Given the description of an element on the screen output the (x, y) to click on. 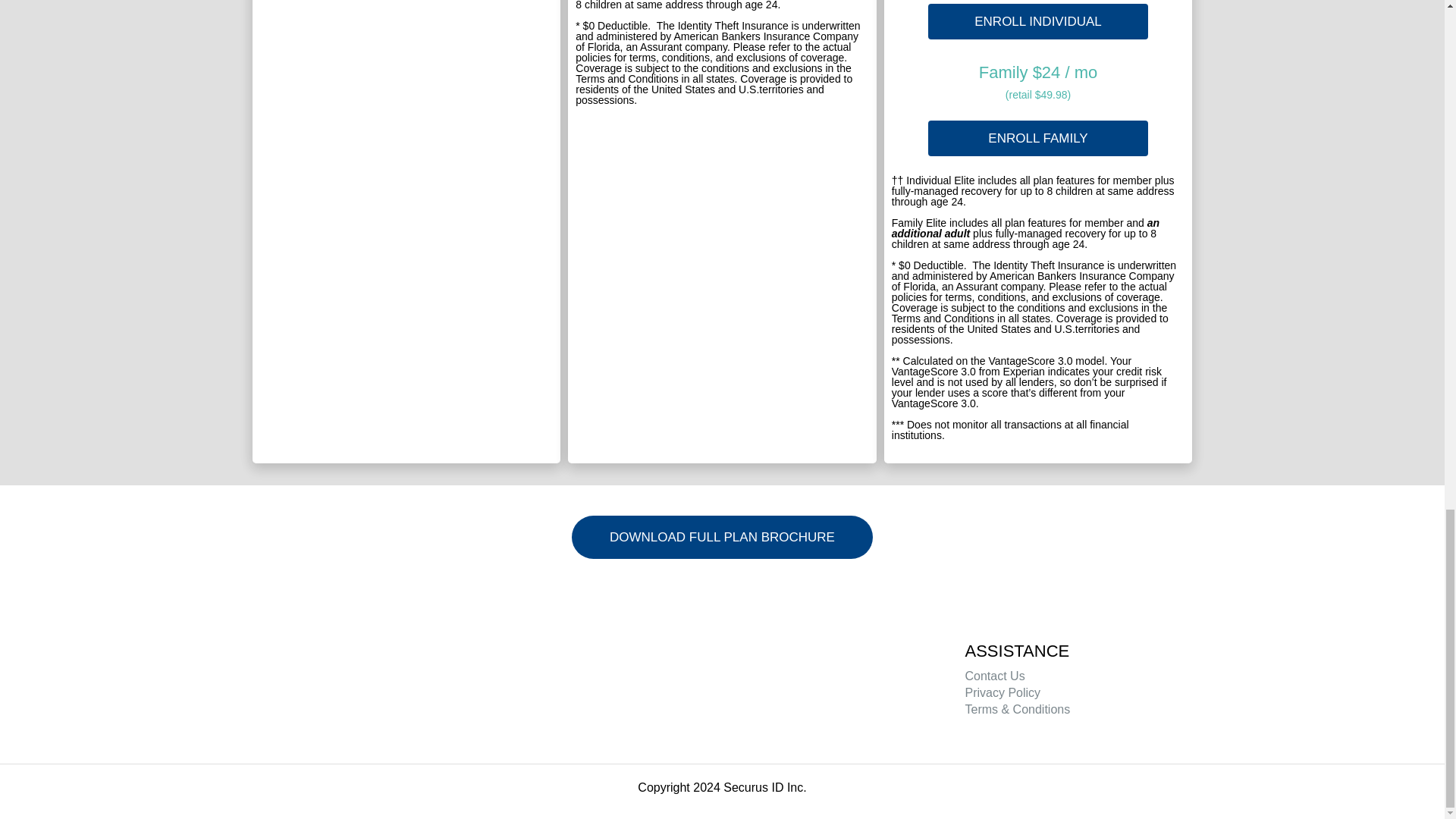
DOWNLOAD FULL PLAN BROCHURE (722, 536)
Privacy Policy (1002, 692)
Contact Us (994, 675)
ENROLL INDIVIDUAL (1038, 21)
ENROLL FAMILY (1038, 138)
